Given the description of an element on the screen output the (x, y) to click on. 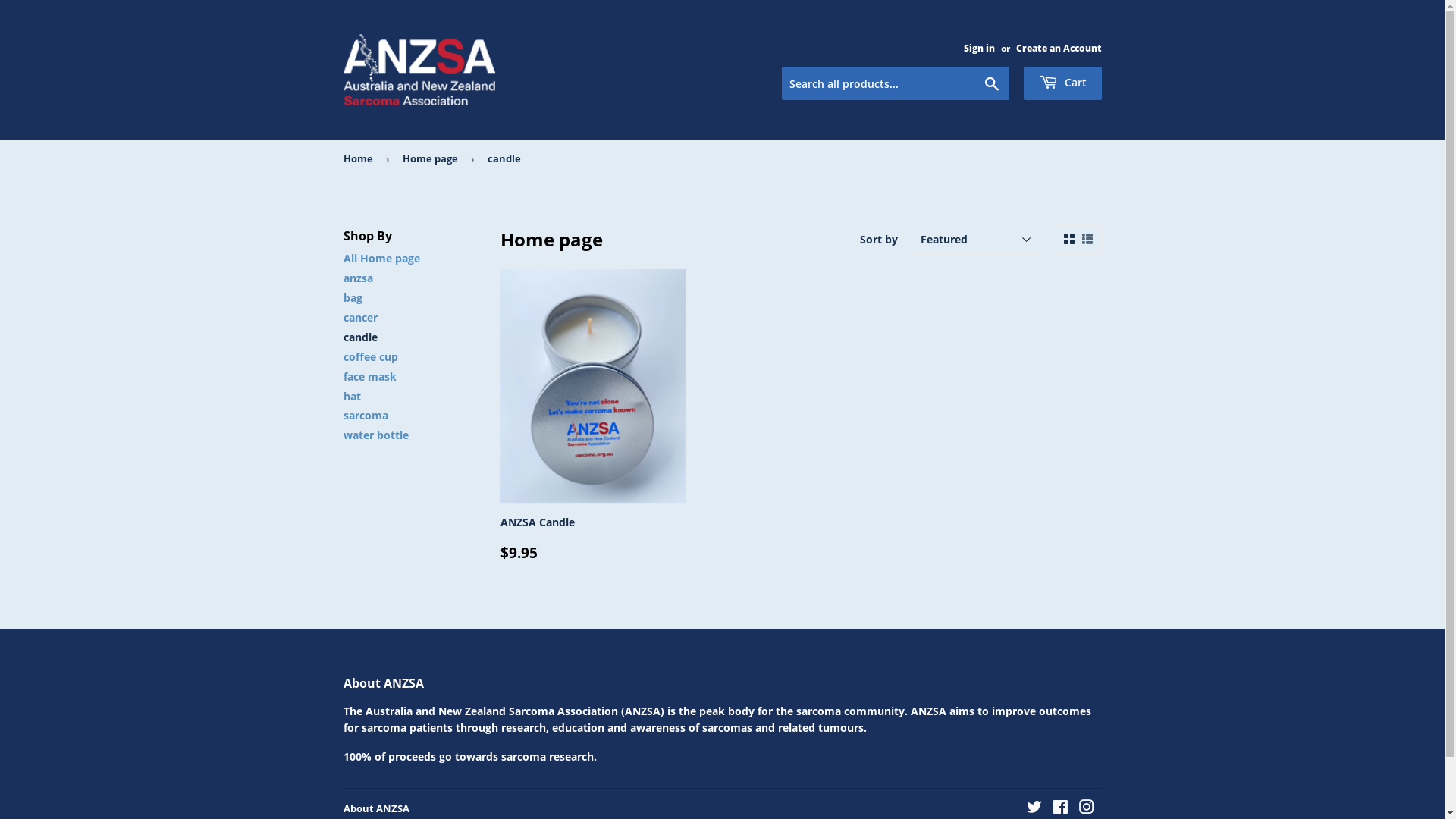
Home page Element type: text (431, 158)
Grid view Element type: hover (1068, 238)
Instagram Element type: text (1085, 808)
Home Element type: text (359, 158)
anzsa Element type: text (357, 277)
cancer Element type: text (359, 317)
Twitter Element type: text (1033, 808)
Sign in Element type: text (978, 47)
sarcoma Element type: text (364, 414)
water bottle Element type: text (374, 434)
Cart Element type: text (1062, 83)
Facebook Element type: text (1060, 808)
face mask Element type: text (368, 376)
coffee cup Element type: text (369, 356)
ANZSA Candle
Regular price
$9.95
$9.95 Element type: text (592, 414)
List view Element type: hover (1086, 238)
About ANZSA Element type: text (375, 808)
Search Element type: text (992, 84)
bag Element type: text (351, 297)
All Home page Element type: text (380, 258)
hat Element type: text (351, 396)
Create an Account Element type: text (1058, 47)
